Given the description of an element on the screen output the (x, y) to click on. 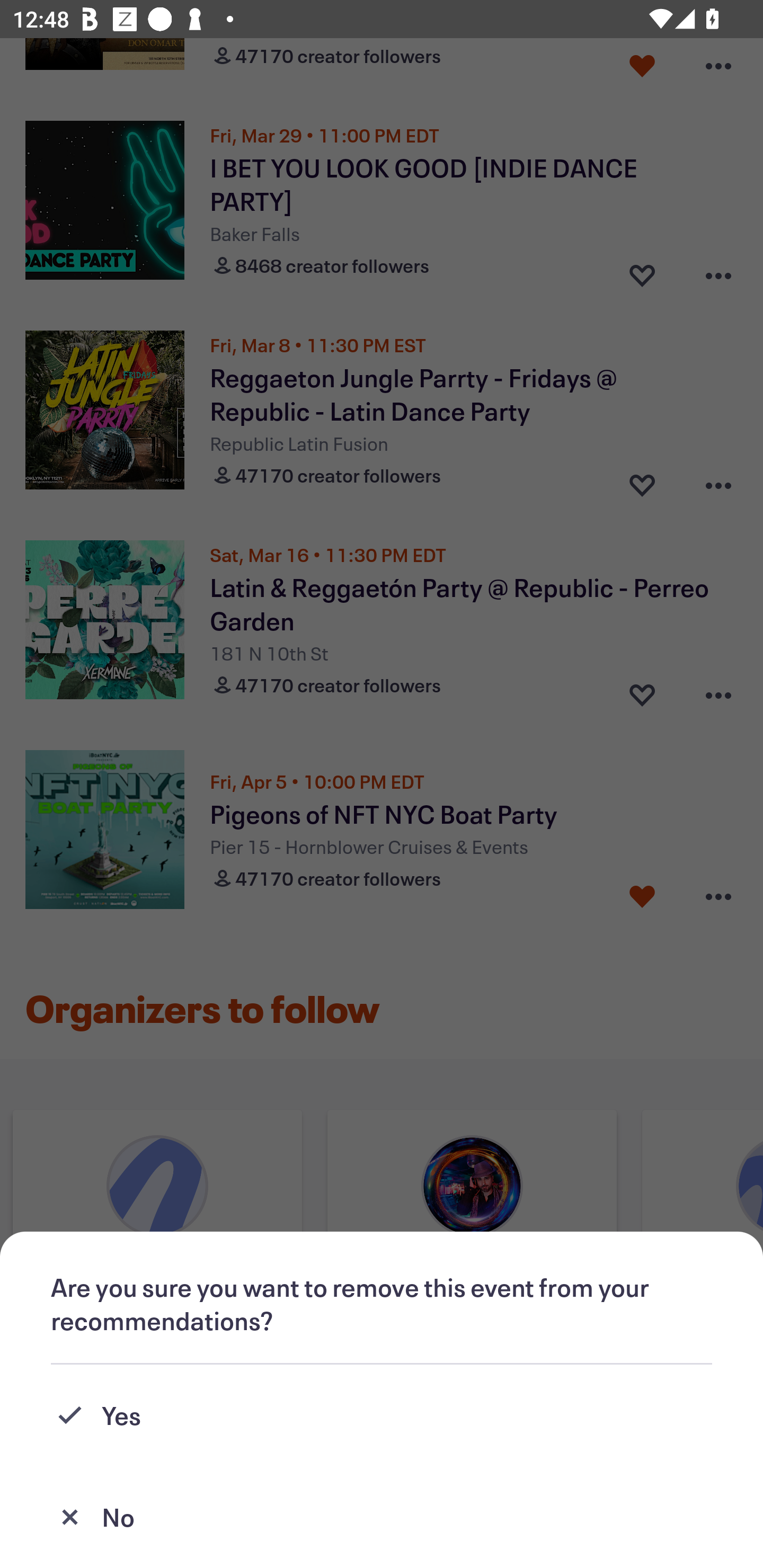
Yes (381, 1415)
No (381, 1517)
